Given the description of an element on the screen output the (x, y) to click on. 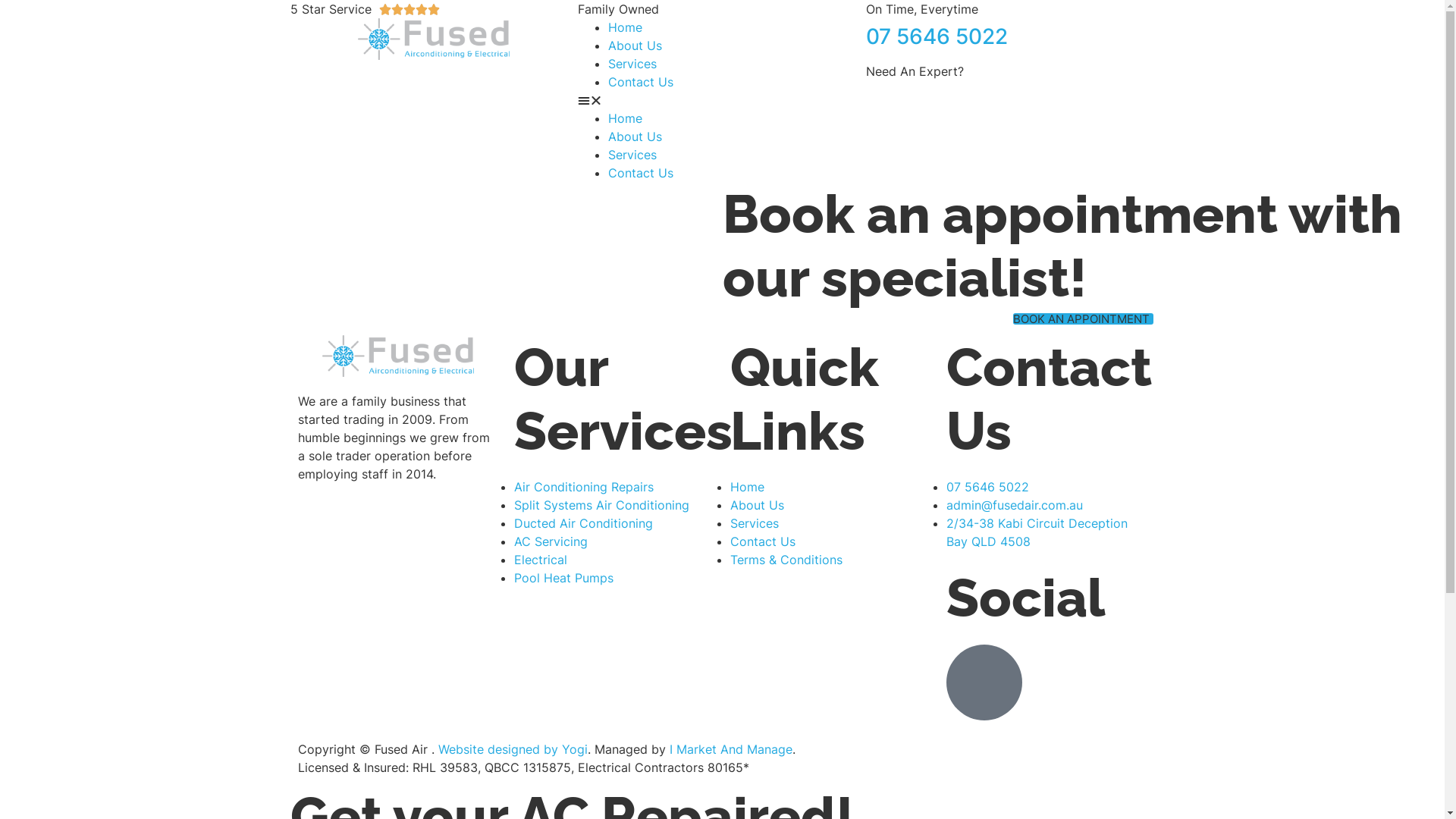
admin@fusedair.com.au Element type: text (1014, 504)
Services Element type: text (632, 63)
AC Servicing Element type: text (550, 541)
Air Conditioning Repairs Element type: text (583, 486)
About Us Element type: text (756, 504)
Services Element type: text (632, 154)
Terms & Conditions Element type: text (785, 559)
Contact Us Element type: text (640, 172)
Home Element type: text (625, 26)
Ducted Air Conditioning Element type: text (583, 522)
About Us Element type: text (635, 136)
2/34-38 Kabi Circuit Deception Bay QLD 4508 Element type: text (1036, 532)
07 5646 5022 Element type: text (987, 486)
Home Element type: text (625, 117)
Contact Us Element type: text (640, 81)
BOOK AN APPOINTMENT Element type: text (1083, 318)
07 5646 5022 Element type: text (936, 36)
About Us Element type: text (635, 45)
Contact Us Element type: text (761, 541)
I Market And Manage Element type: text (729, 748)
Website designed by Yogi Element type: text (512, 748)
Pool Heat Pumps Element type: text (563, 577)
Electrical Element type: text (540, 559)
Services Element type: text (753, 522)
Split Systems Air Conditioning Element type: text (601, 504)
Home Element type: text (746, 486)
